Given the description of an element on the screen output the (x, y) to click on. 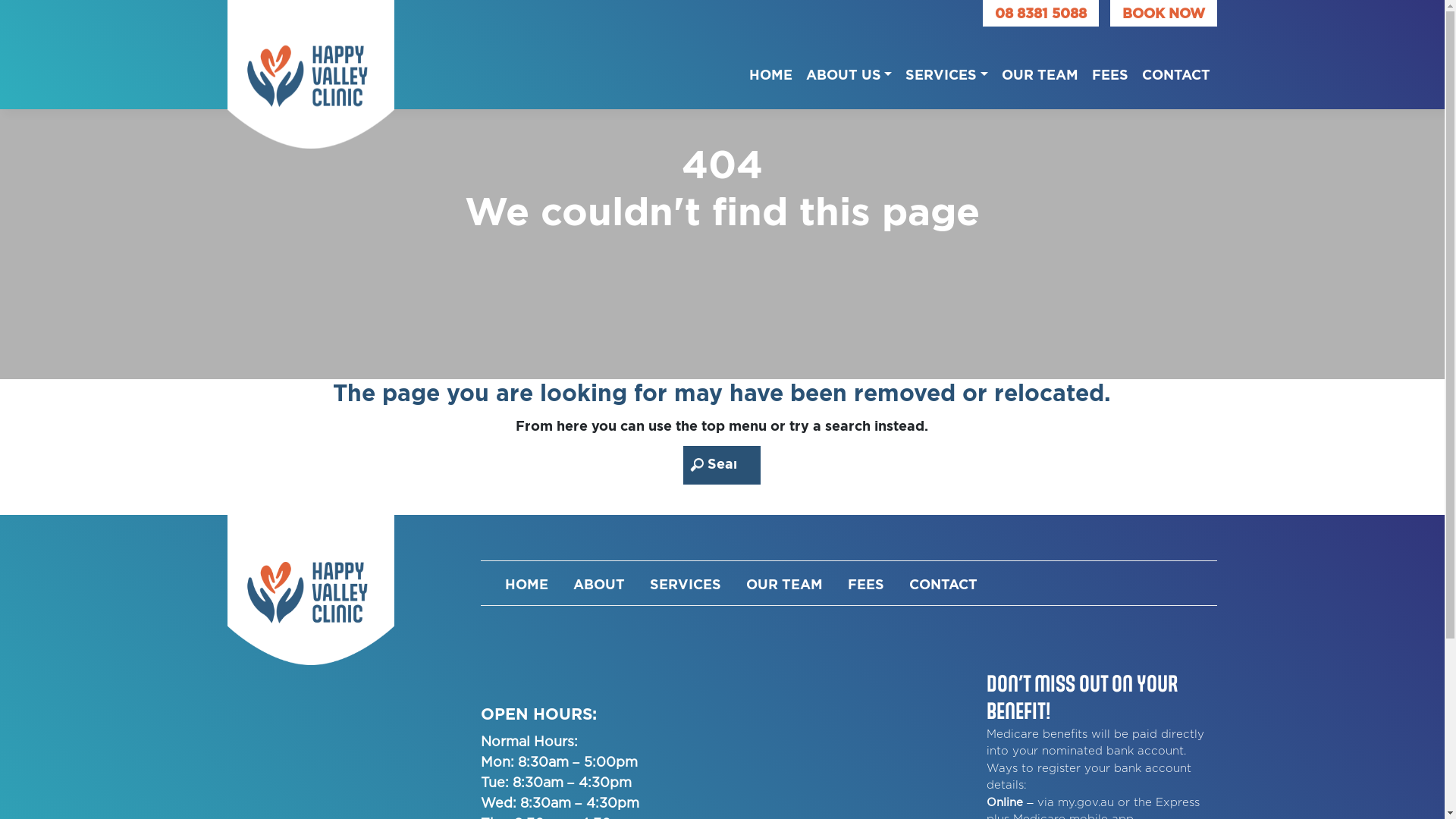
FEES Element type: text (1110, 71)
HOME Element type: text (530, 580)
CONTACT Element type: text (1176, 71)
BOOK NOW Element type: text (1163, 13)
08 8381 5088 Element type: text (1040, 12)
ABOUT US Element type: text (849, 71)
Search Element type: text (29, 12)
OUR TEAM Element type: text (1039, 71)
SERVICES Element type: text (946, 71)
OUR TEAM Element type: text (787, 580)
SERVICES Element type: text (688, 580)
08 8381 5088 Element type: text (1040, 13)
BOOK NOW Element type: text (1163, 12)
ABOUT Element type: text (602, 580)
FEES Element type: text (869, 580)
CONTACT Element type: text (946, 580)
HOME Element type: text (770, 71)
my.gov.au Element type: text (1085, 802)
